Given the description of an element on the screen output the (x, y) to click on. 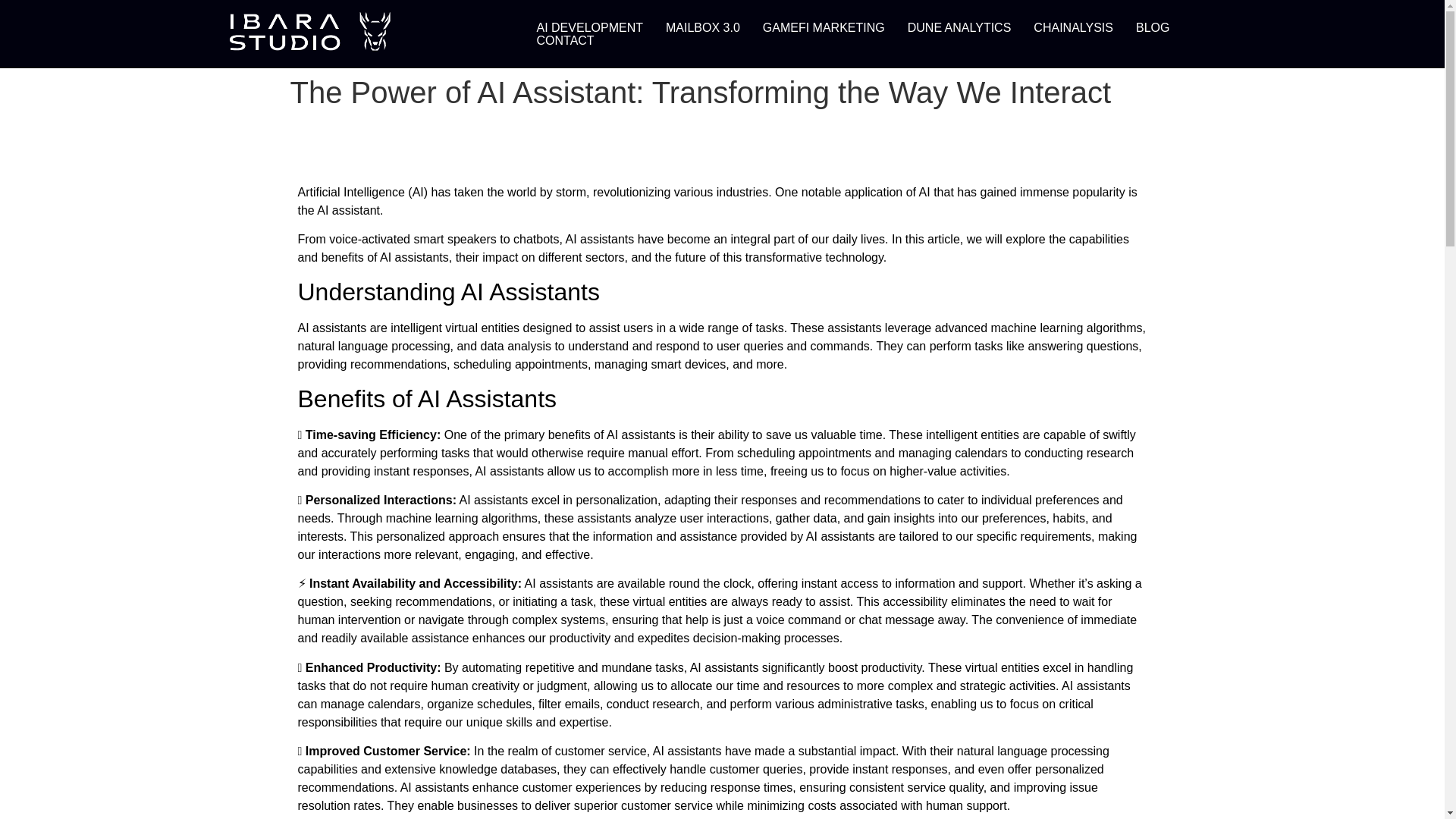
GAMEFI MARKETING (823, 27)
CONTACT (564, 40)
MAILBOX 3.0 (702, 27)
DUNE ANALYTICS (959, 27)
BLOG (1152, 27)
CHAINALYSIS (1073, 27)
AI DEVELOPMENT (588, 27)
